Given the description of an element on the screen output the (x, y) to click on. 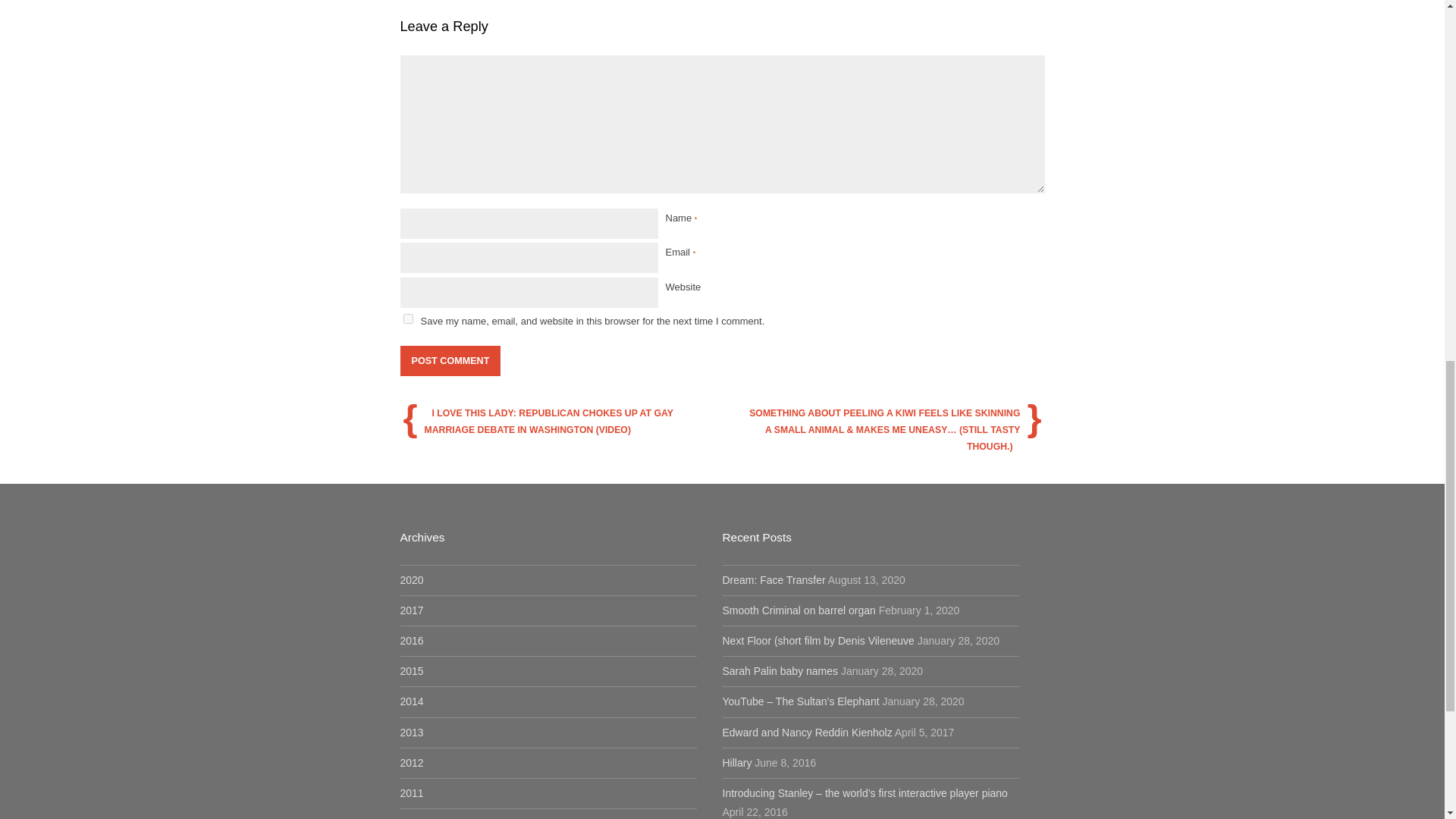
2010 (411, 818)
Post Comment (450, 360)
Post Comment (450, 360)
2020 (411, 580)
Dream: Face Transfer (773, 580)
2017 (411, 610)
Sarah Palin baby names (780, 671)
2012 (411, 762)
2015 (411, 671)
Hillary (736, 762)
